Given the description of an element on the screen output the (x, y) to click on. 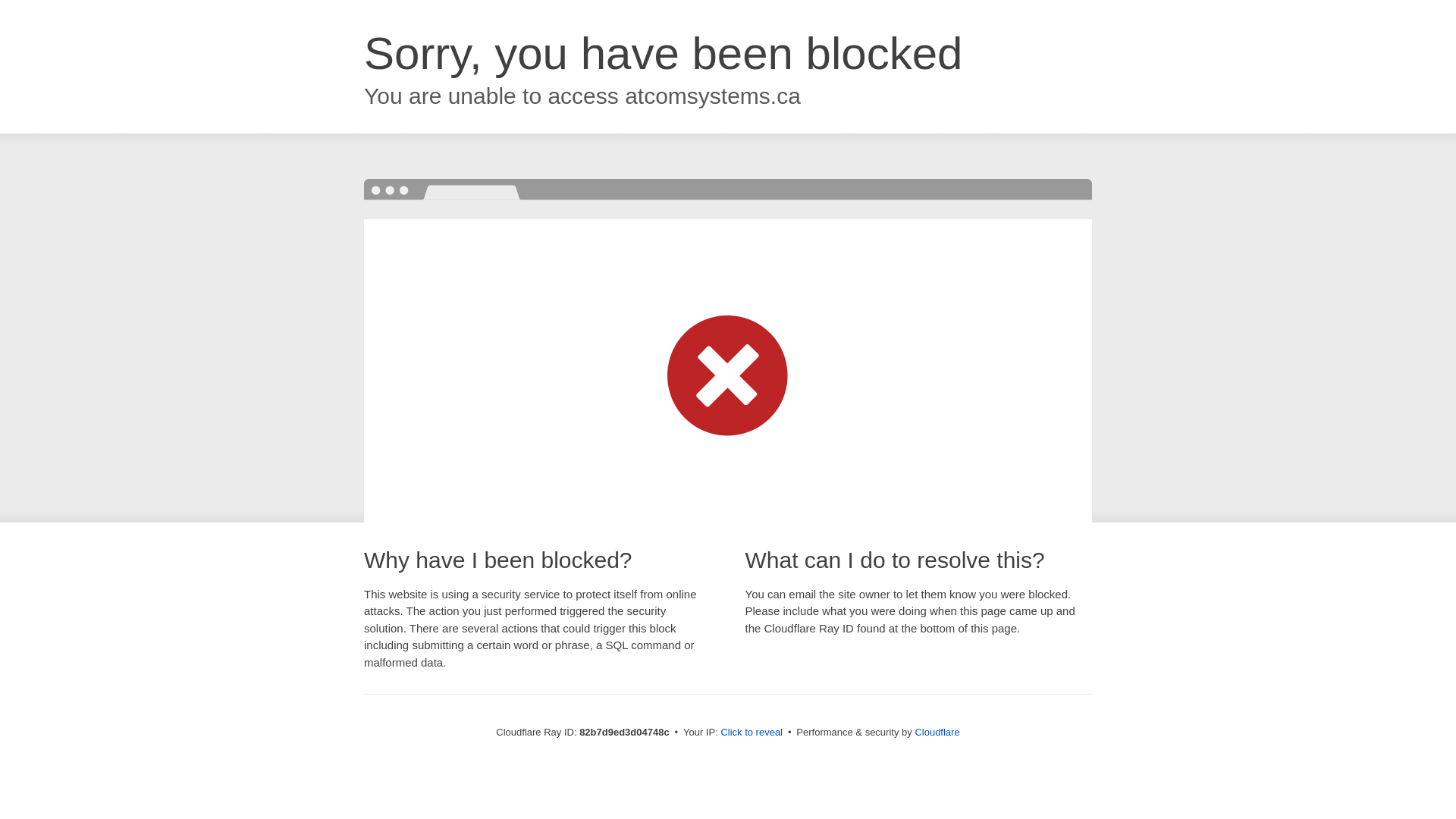
Cloudflare Element type: text (936, 731)
Click to reveal Element type: text (751, 732)
